Given the description of an element on the screen output the (x, y) to click on. 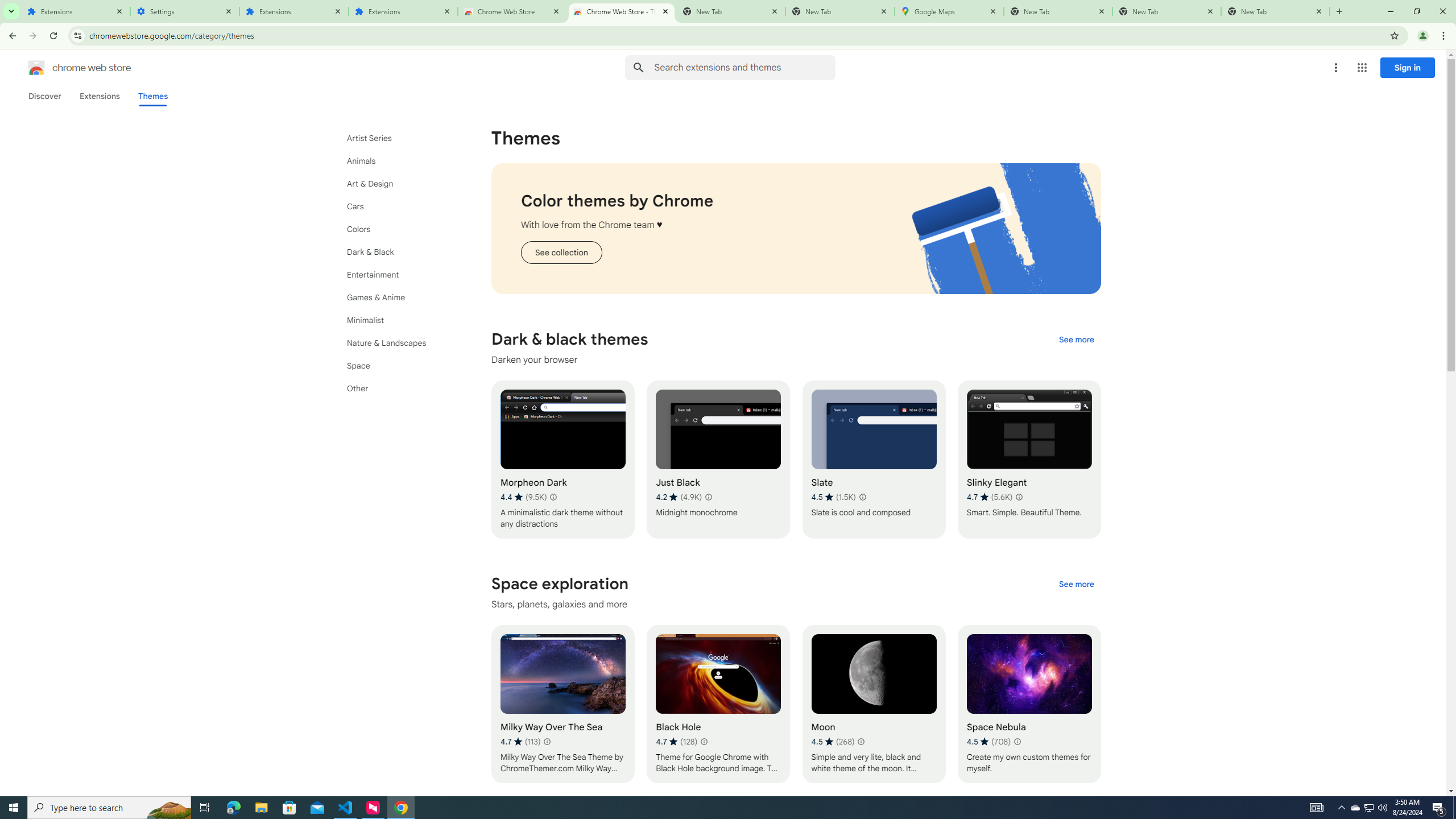
Average rating 4.4 out of 5 stars. 9.5K ratings. (523, 496)
Learn more about results and reviews "Moon" (860, 741)
Learn more about results and reviews "Morpheon Dark" (552, 496)
Learn more about results and reviews "Just Black" (707, 496)
New Tab (1275, 11)
More options menu (1335, 67)
Black Hole (718, 703)
Google Maps (949, 11)
Just Black (718, 459)
Average rating 4.2 out of 5 stars. 4.9K ratings. (678, 496)
Chrome Web Store logo (36, 67)
